Given the description of an element on the screen output the (x, y) to click on. 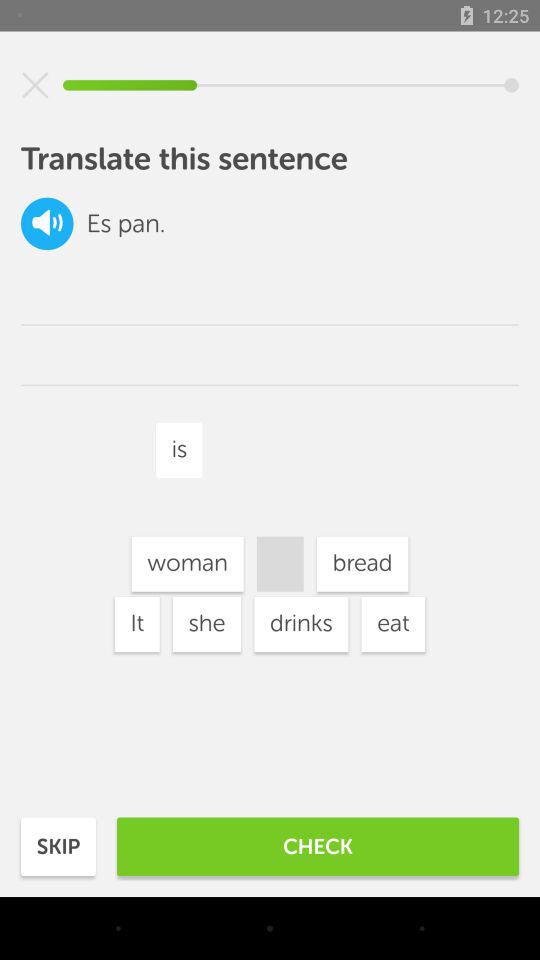
turn off the icon next to the check icon (58, 846)
